Given the description of an element on the screen output the (x, y) to click on. 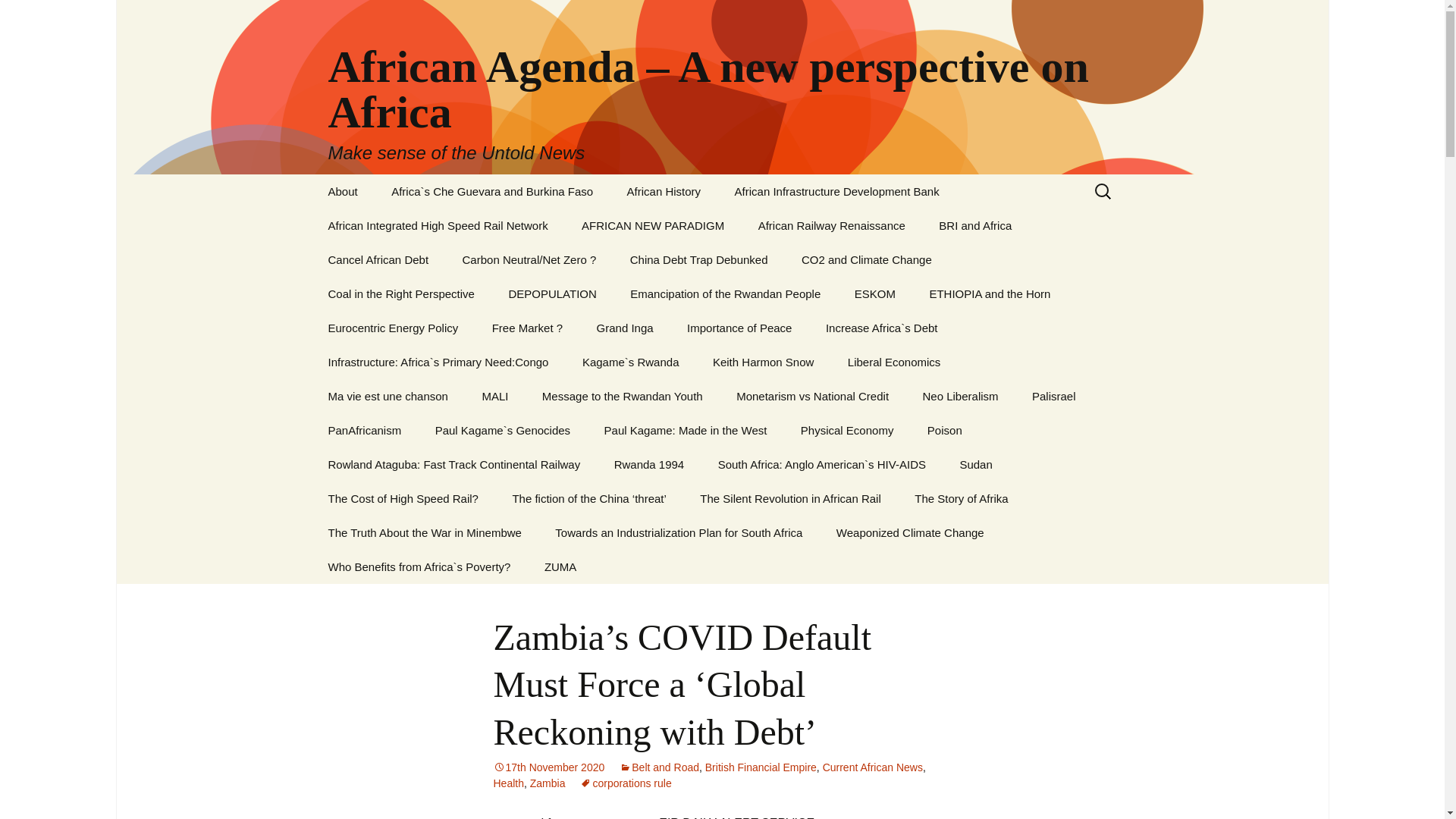
African Integrated High Speed Rail Network (437, 225)
China Debt Trap Debunked (698, 259)
Emancipation of the Rwandan People (724, 293)
DEPOPULATION (552, 293)
Importance of Peace (738, 327)
Free Market ? (527, 327)
Coal in the Right Perspective (401, 293)
Neo Liberalism (960, 396)
Palisrael (1053, 396)
African History (663, 191)
Eurocentric Energy Policy (393, 327)
Grand Inga (624, 327)
Liberal Economics (894, 361)
About (342, 191)
